Given the description of an element on the screen output the (x, y) to click on. 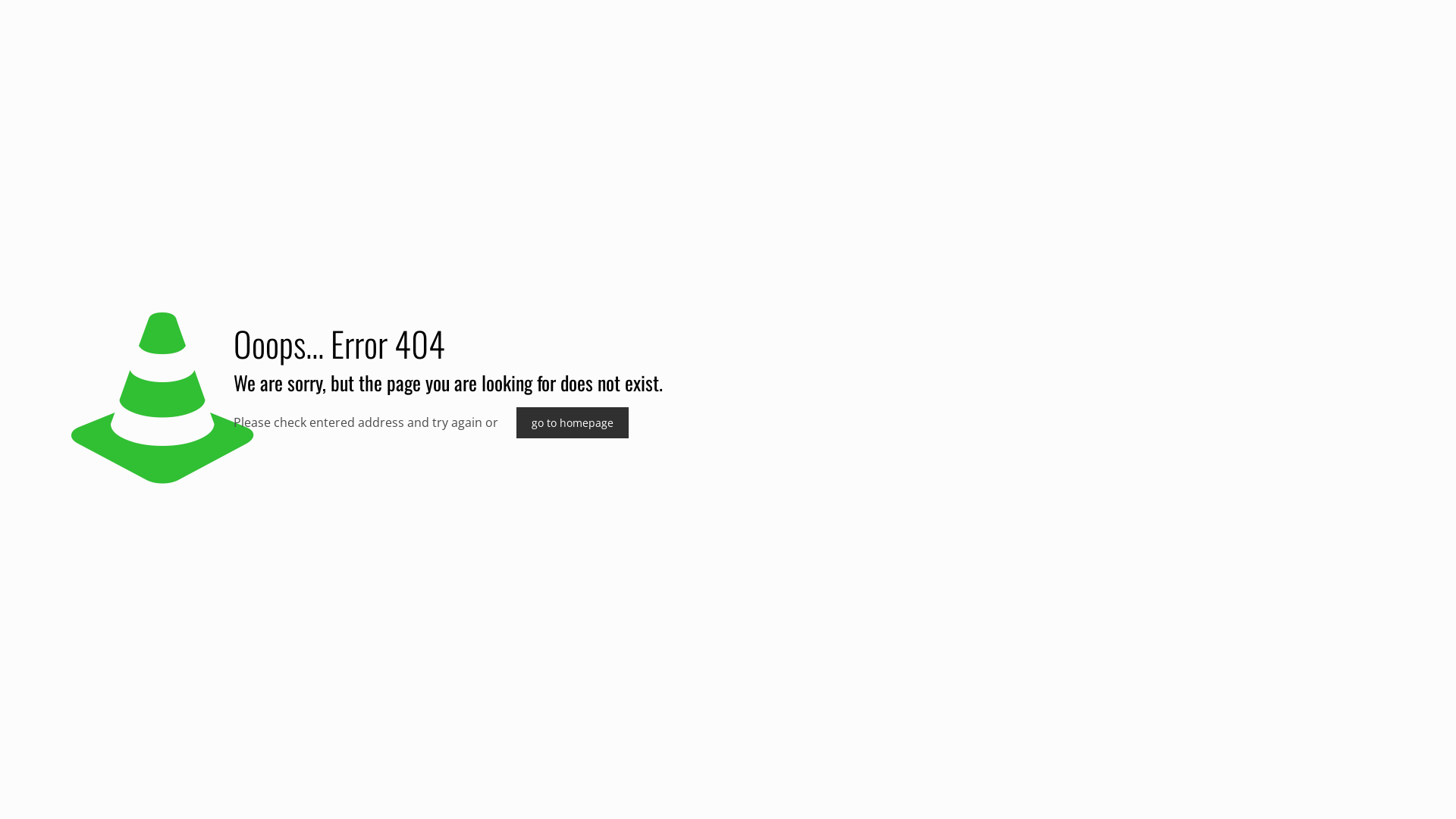
go to homepage Element type: text (572, 422)
